Given the description of an element on the screen output the (x, y) to click on. 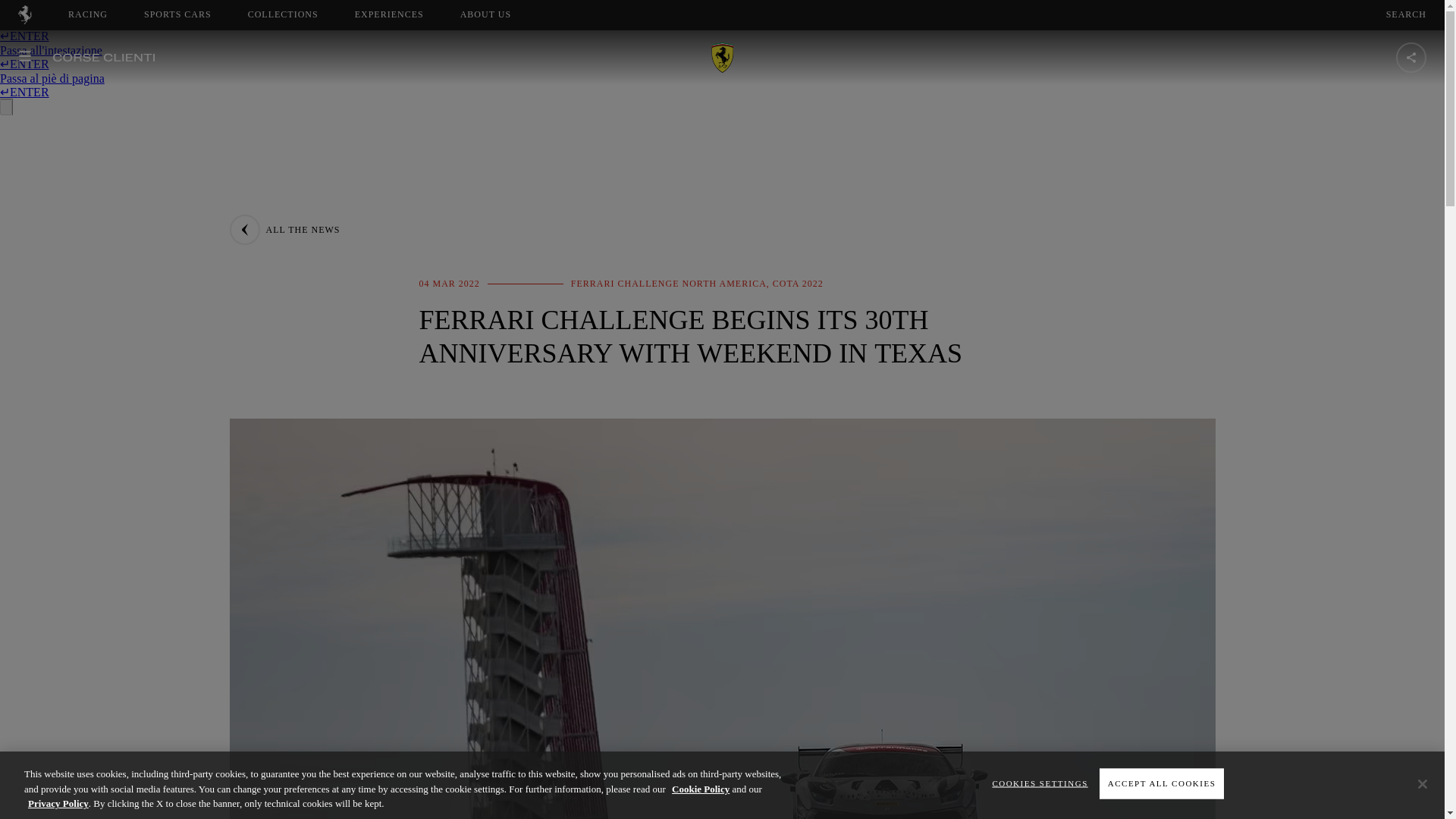
ABOUT US (485, 14)
Ferrari logo (24, 19)
SEARCH (1406, 14)
RACING (87, 14)
ALL THE NEWS (283, 229)
SPORTS CARS (499, 14)
EXPERIENCES (177, 14)
COLLECTIONS (389, 14)
